Given the description of an element on the screen output the (x, y) to click on. 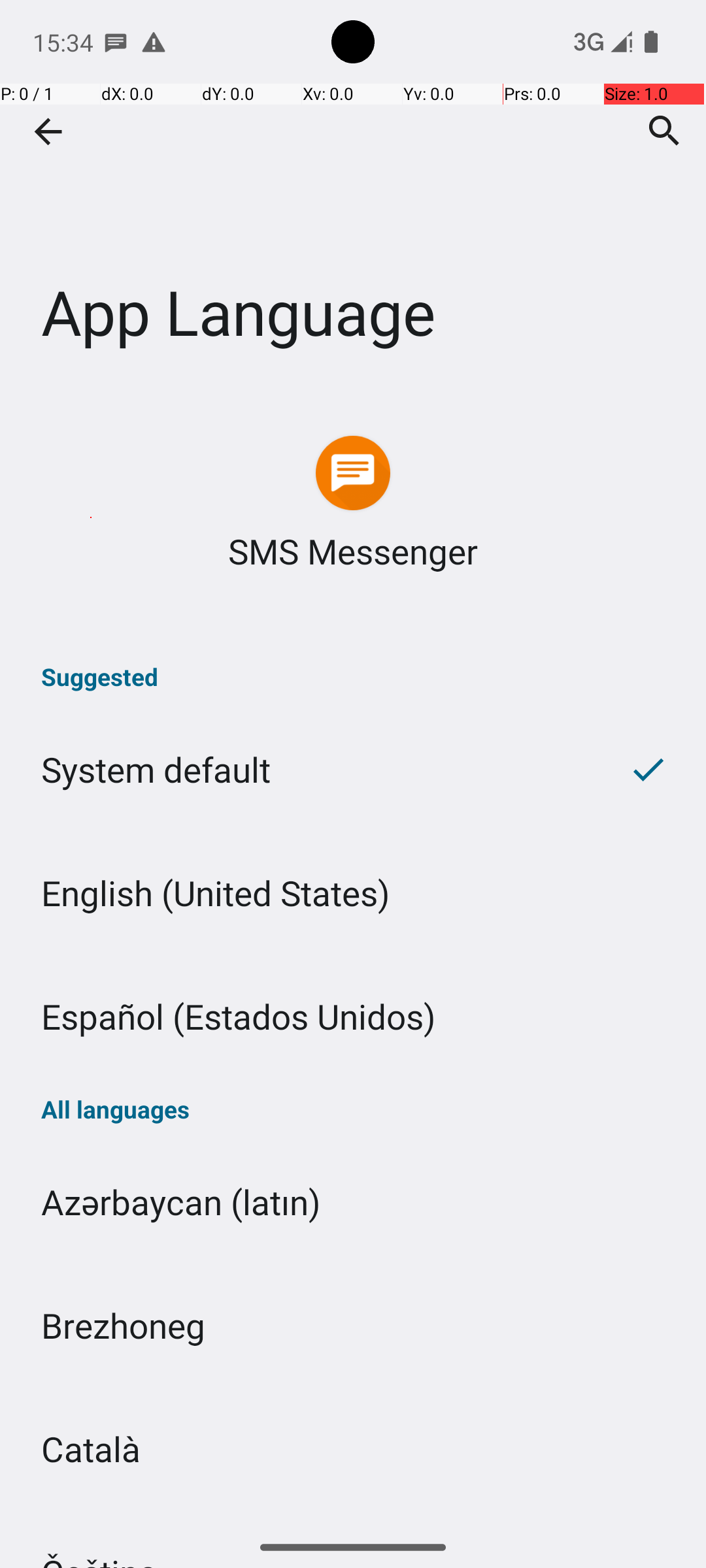
App Language Element type: android.widget.FrameLayout (353, 195)
Suggested Element type: android.widget.TextView (353, 676)
English (United States) Element type: android.widget.TextView (353, 892)
Español (Estados Unidos) Element type: android.widget.TextView (353, 1016)
All languages Element type: android.widget.TextView (353, 1109)
Azərbaycan (latın) Element type: android.widget.TextView (353, 1201)
Brezhoneg Element type: android.widget.TextView (353, 1325)
Català Element type: android.widget.TextView (353, 1448)
Čeština Element type: android.widget.TextView (353, 1518)
System default Element type: android.widget.TextView (295, 769)
SMS Messenger Element type: android.widget.TextView (352, 550)
